Given the description of an element on the screen output the (x, y) to click on. 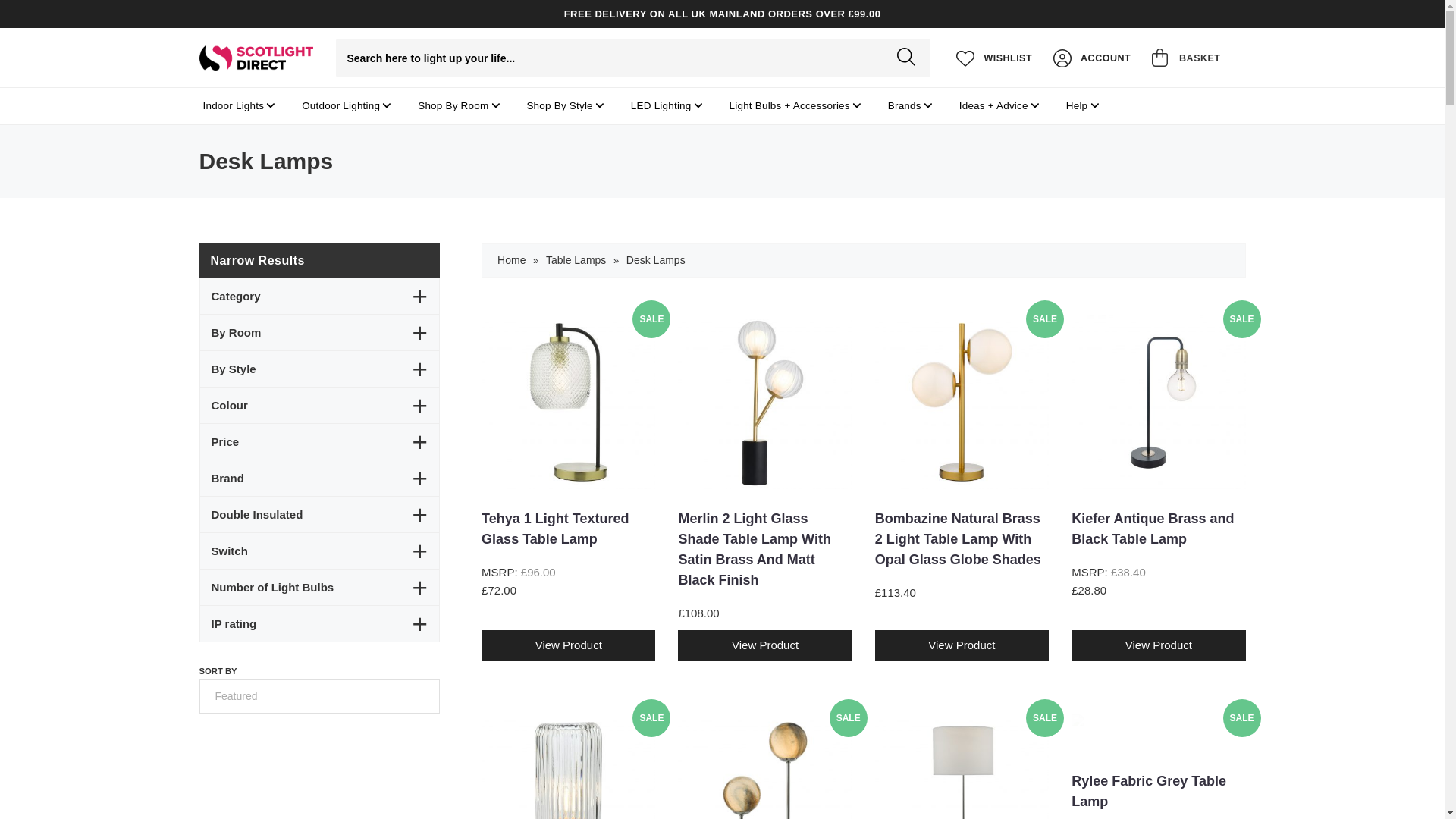
Home (511, 260)
Indoor Lights (232, 105)
Tehya 1 Light Textured Glass Table Lamp (568, 402)
Table Lamps (575, 260)
WISHLIST (993, 57)
Rylee Fabric Grey Table Lamp (1157, 733)
Mikara Polished Chrome Planet Glass 2 Light Table Lamp (764, 766)
BASKET (1195, 58)
ACCOUNT (1091, 57)
